Given the description of an element on the screen output the (x, y) to click on. 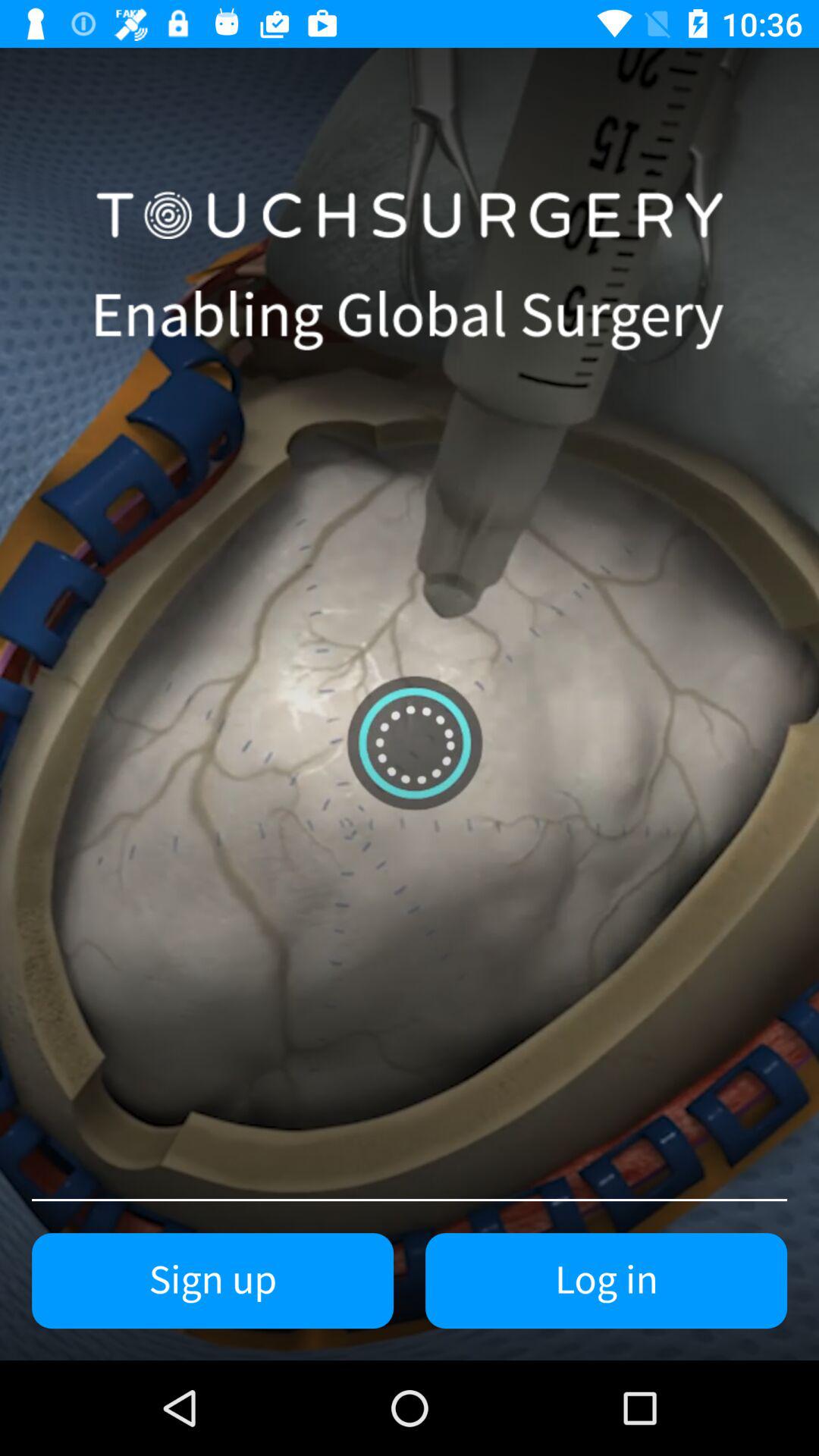
press log in (606, 1280)
